Given the description of an element on the screen output the (x, y) to click on. 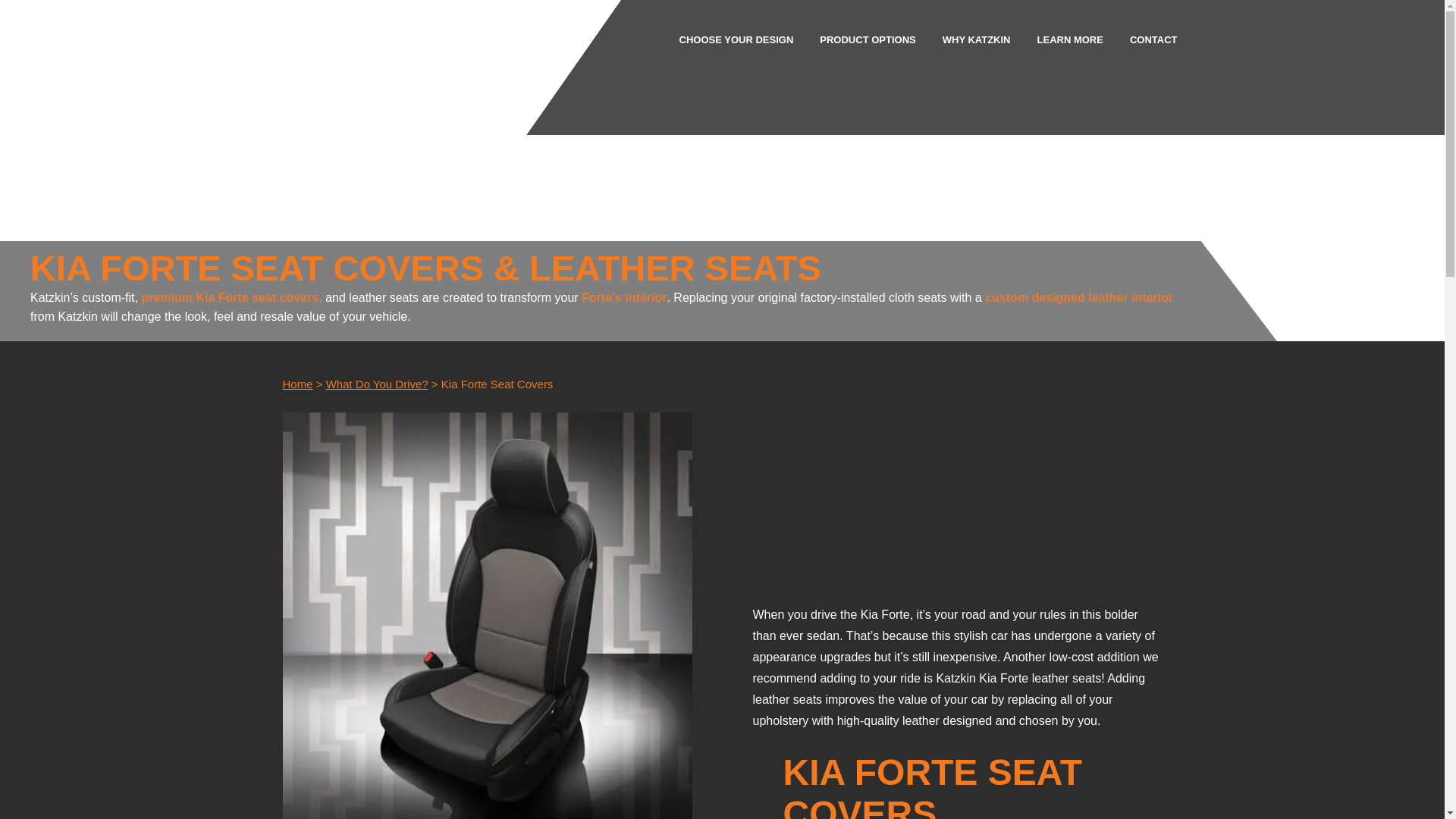
CHOOSE YOUR DESIGN (736, 39)
PRODUCT OPTIONS (867, 39)
WHY KATZKIN (976, 39)
